Given the description of an element on the screen output the (x, y) to click on. 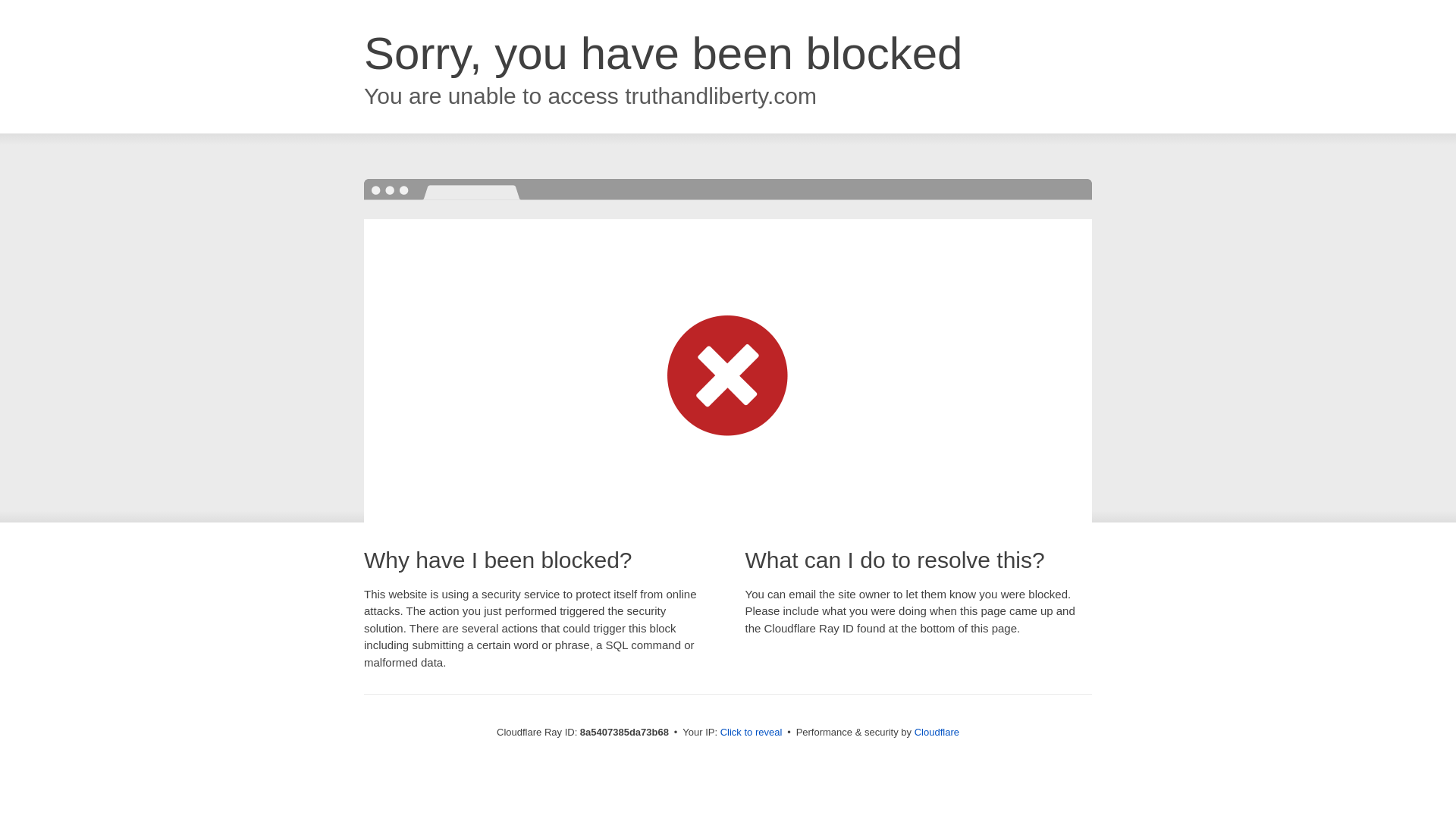
Click to reveal (751, 732)
Cloudflare (936, 731)
